Given the description of an element on the screen output the (x, y) to click on. 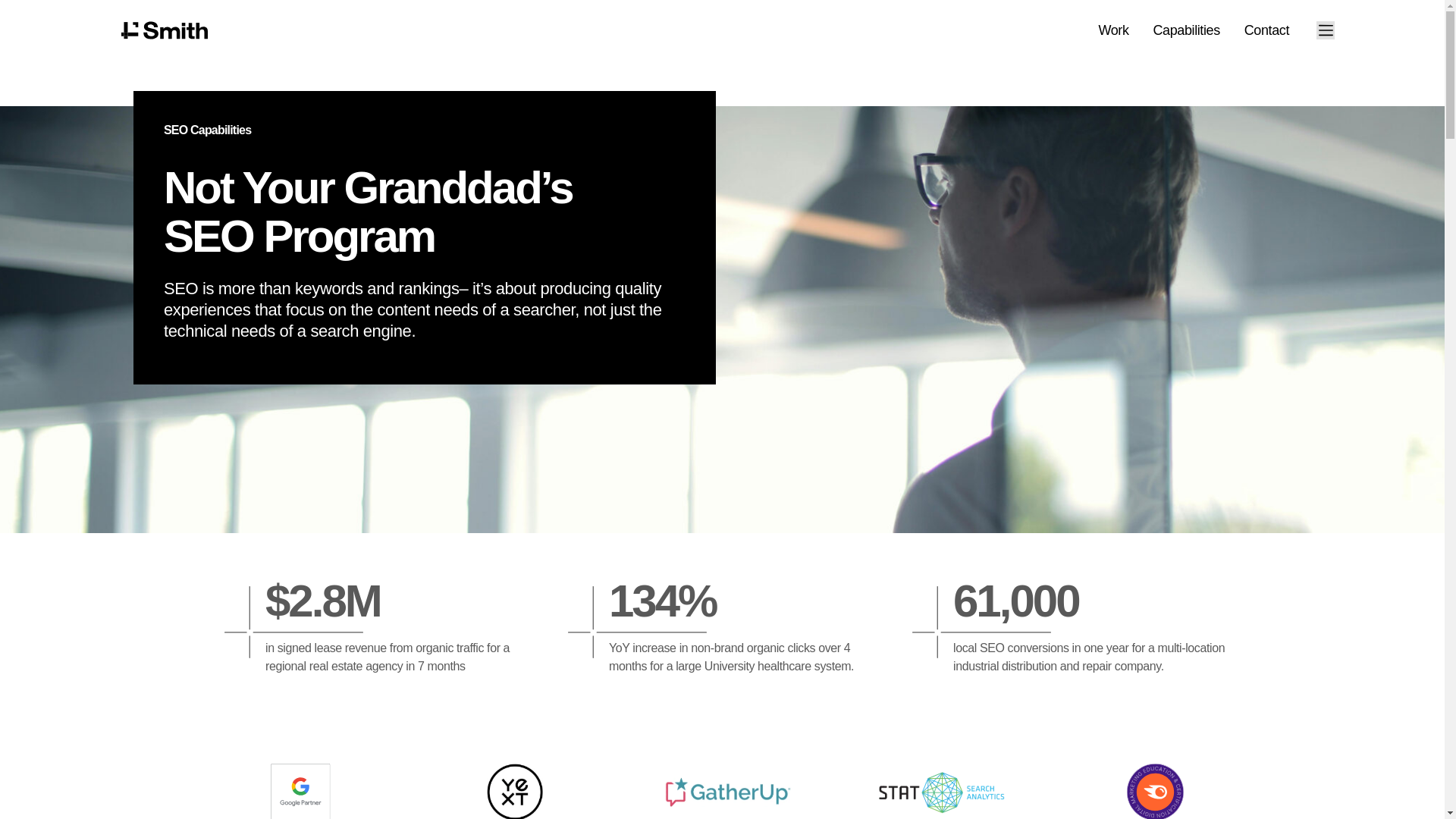
Work (1112, 29)
Capabilities (1186, 29)
Smith (164, 30)
Smith (164, 30)
Contact (1266, 29)
